Given the description of an element on the screen output the (x, y) to click on. 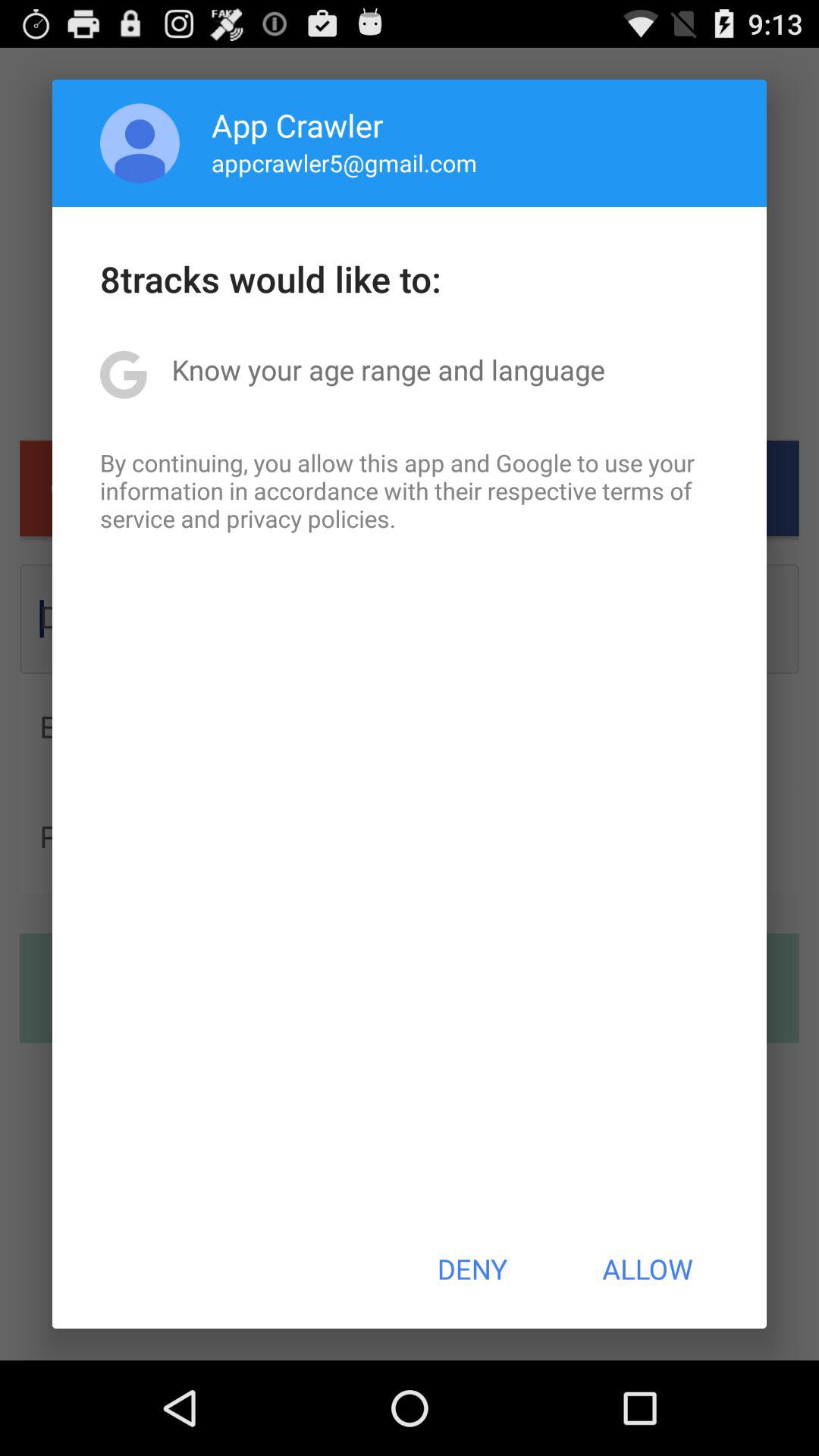
press the icon above the 8tracks would like icon (344, 162)
